Given the description of an element on the screen output the (x, y) to click on. 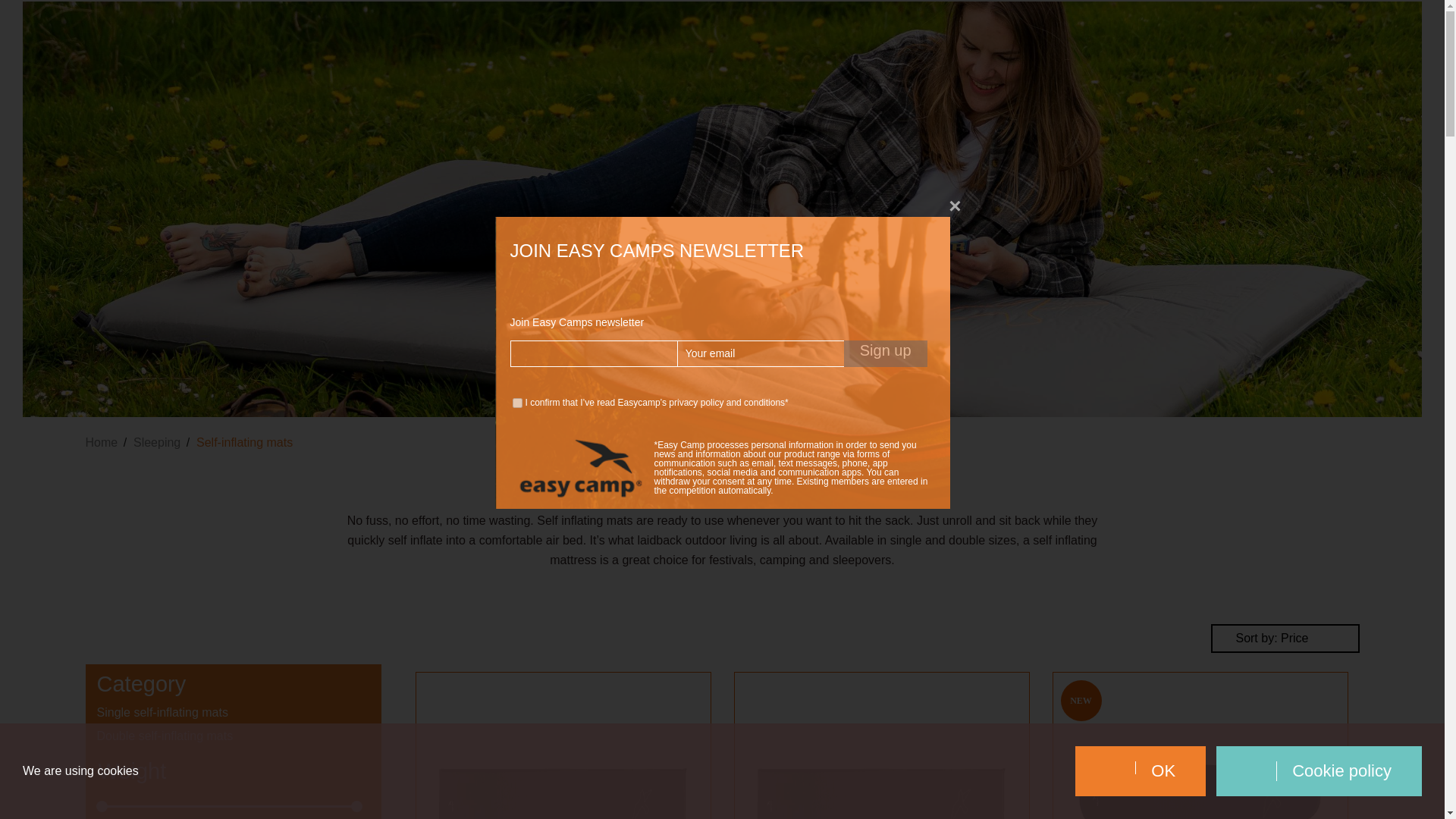
on (517, 402)
Tents (308, 22)
0 (1380, 24)
